Given the description of an element on the screen output the (x, y) to click on. 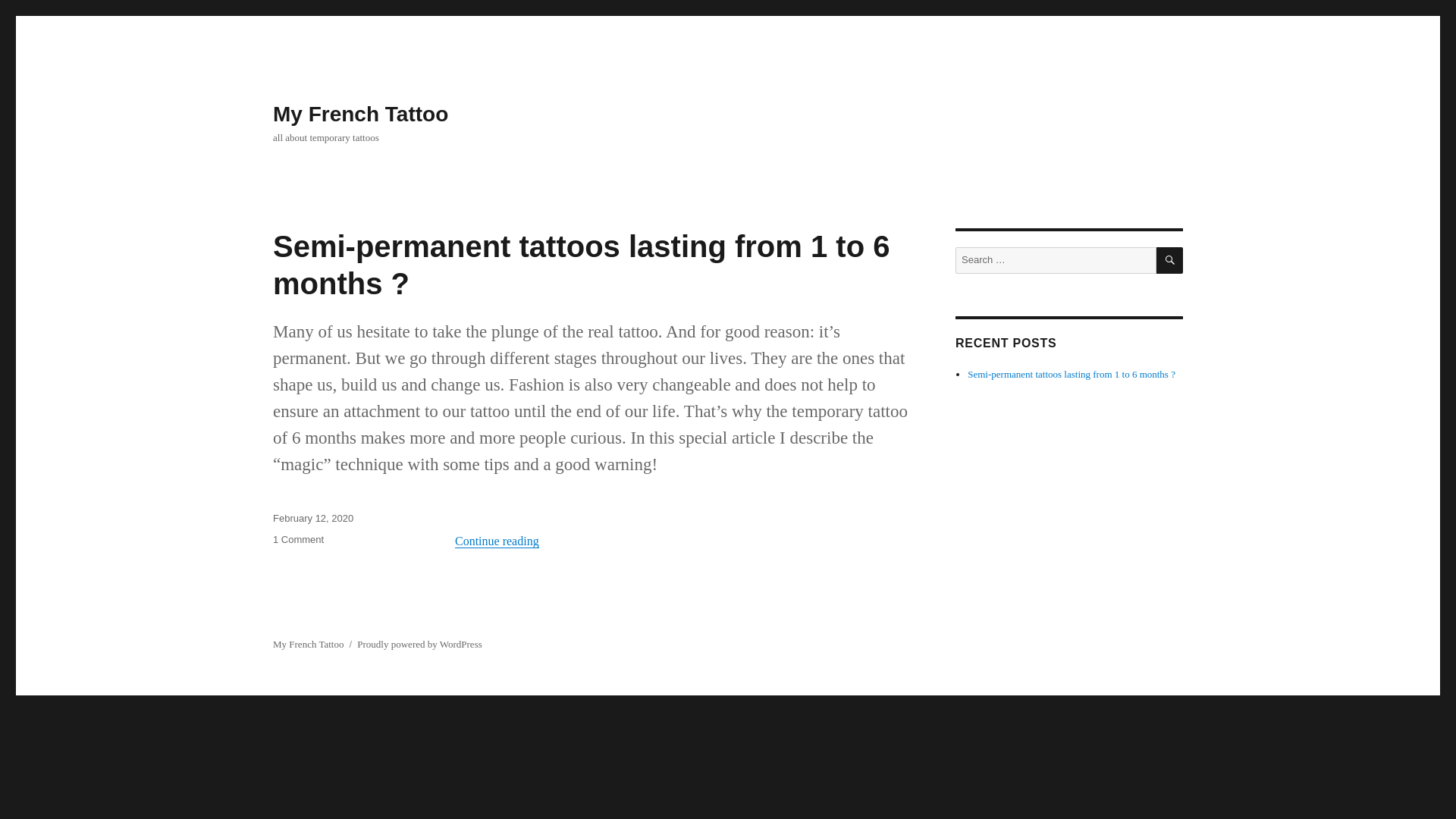
Semi-permanent tattoos lasting from 1 to 6 months ? (1071, 374)
Proudly powered by WordPress (418, 644)
SEARCH (1169, 260)
My French Tattoo (308, 644)
My French Tattoo (360, 114)
Semi-permanent tattoos lasting from 1 to 6 months ? (581, 265)
February 12, 2020 (313, 518)
